Given the description of an element on the screen output the (x, y) to click on. 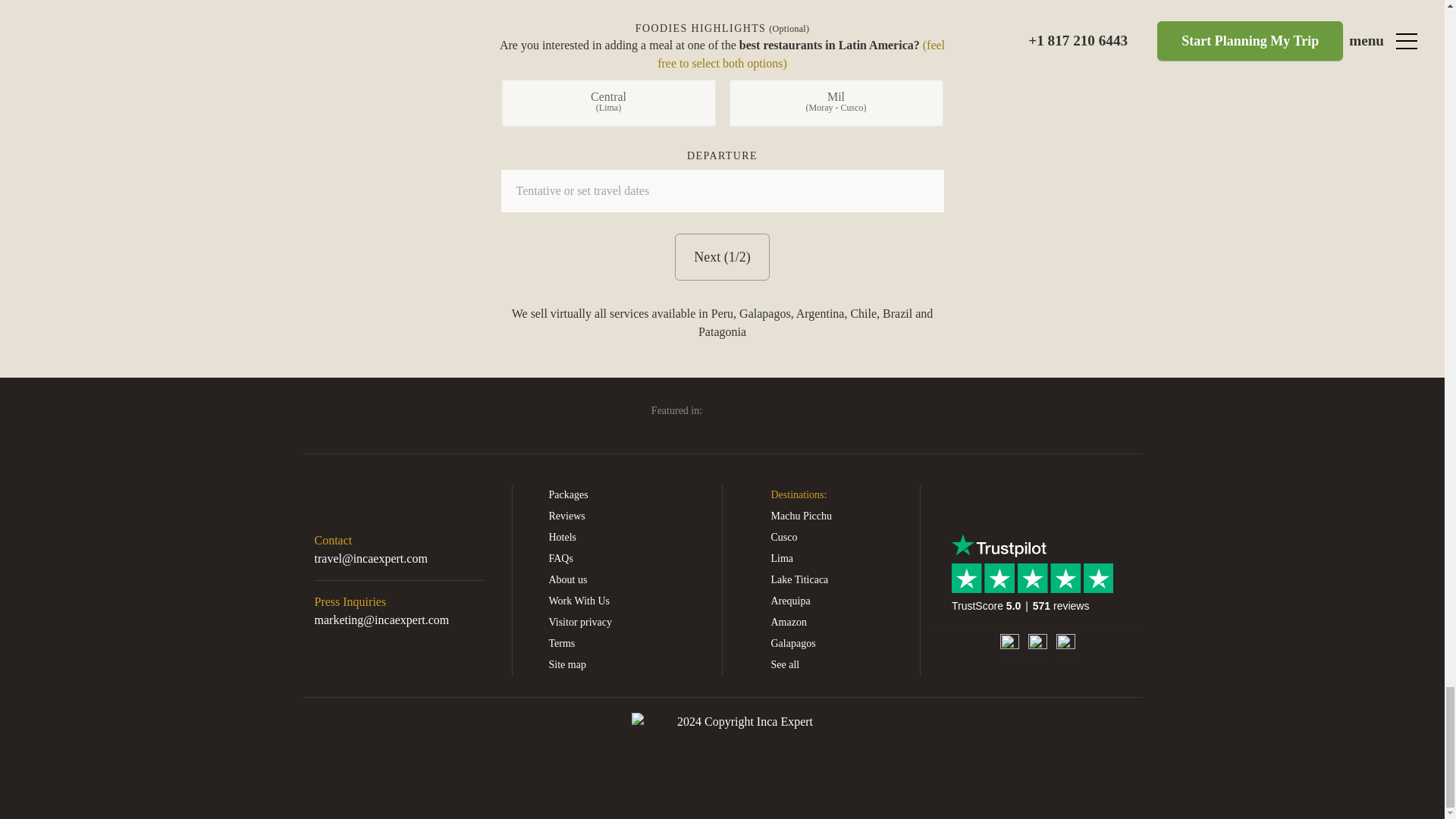
Packages (629, 495)
Customer reviews powered by Trustpilot (1036, 587)
Work With Us (629, 600)
Visitor privacy (629, 622)
Reviews (629, 516)
Terms (629, 643)
Hotels (629, 537)
FAQs (629, 558)
Site map (629, 664)
About us (629, 579)
